Given the description of an element on the screen output the (x, y) to click on. 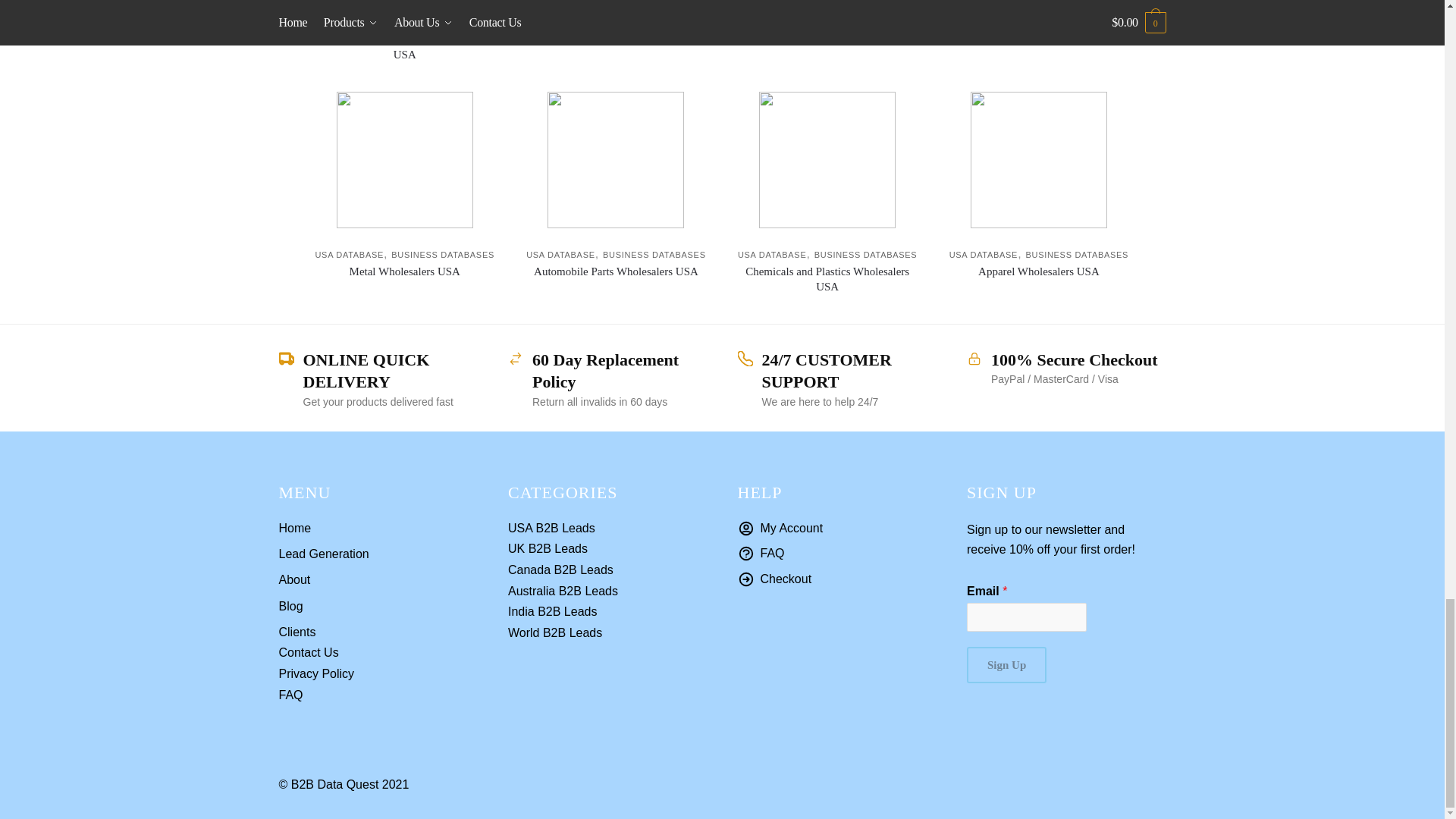
Construction Raw Material Wholesalers USA (404, 46)
USA DATABASE (349, 22)
USA DATABASE (560, 22)
BUSINESS DATABASES (443, 22)
